Given the description of an element on the screen output the (x, y) to click on. 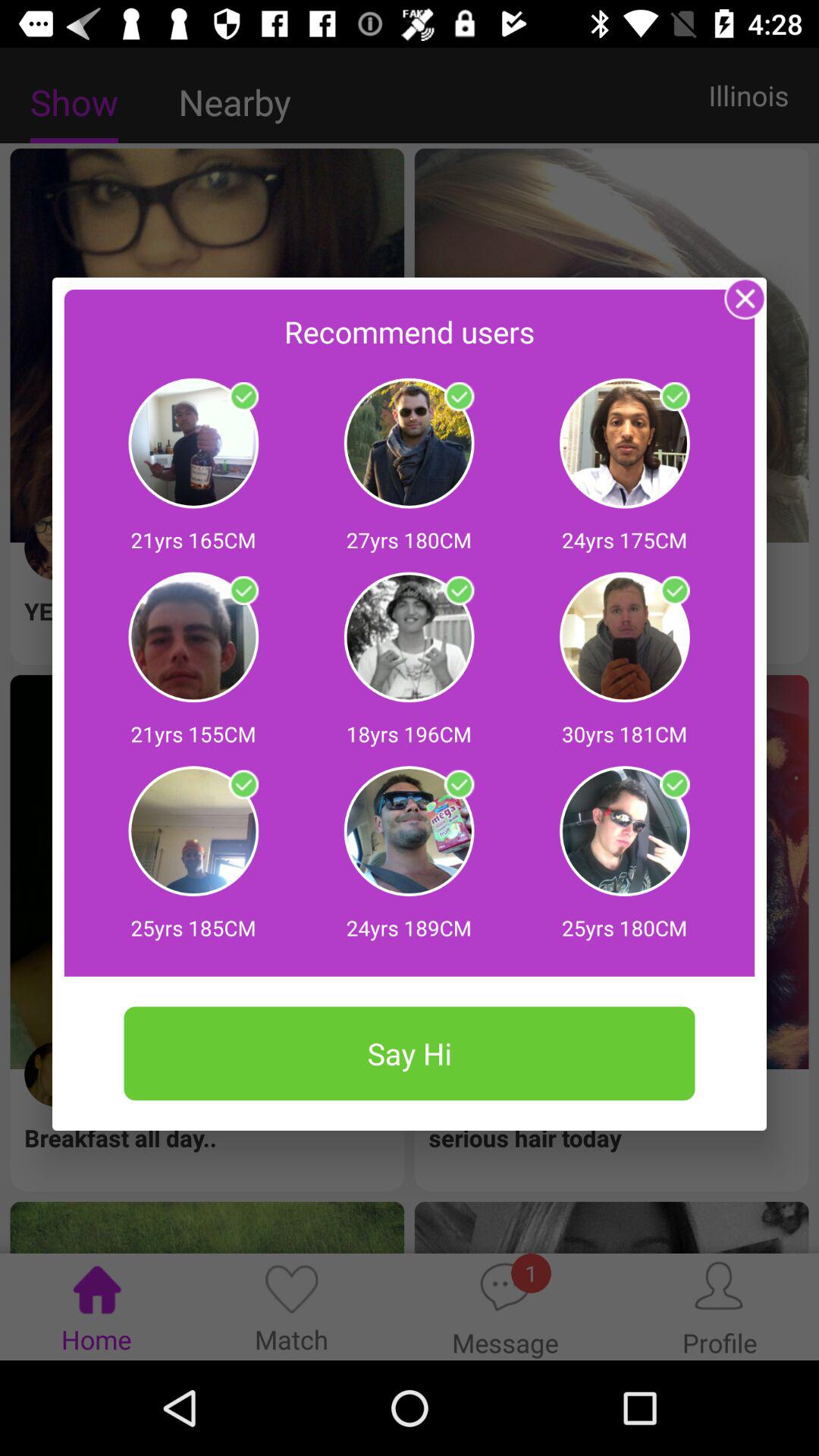
select the particular user to say hi (674, 784)
